Given the description of an element on the screen output the (x, y) to click on. 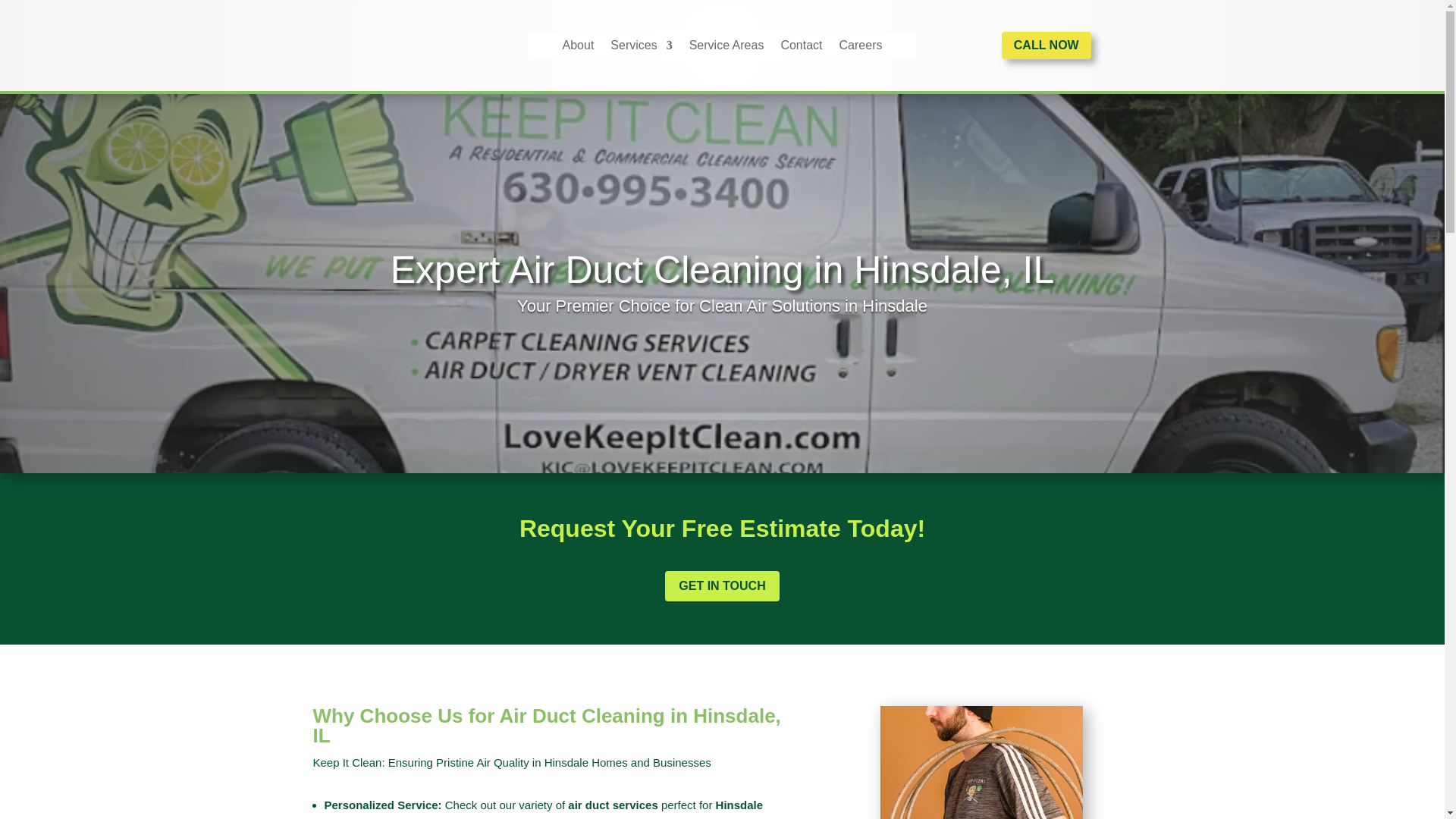
CALL NOW (1045, 45)
GET IN TOUCH (721, 585)
Service Areas (726, 48)
Keep-It-Clean-Technician-Air-Duct-Equipment-Hinsdale-IL (981, 762)
Careers (861, 48)
Services (640, 48)
Contact (801, 48)
About (578, 48)
